Given the description of an element on the screen output the (x, y) to click on. 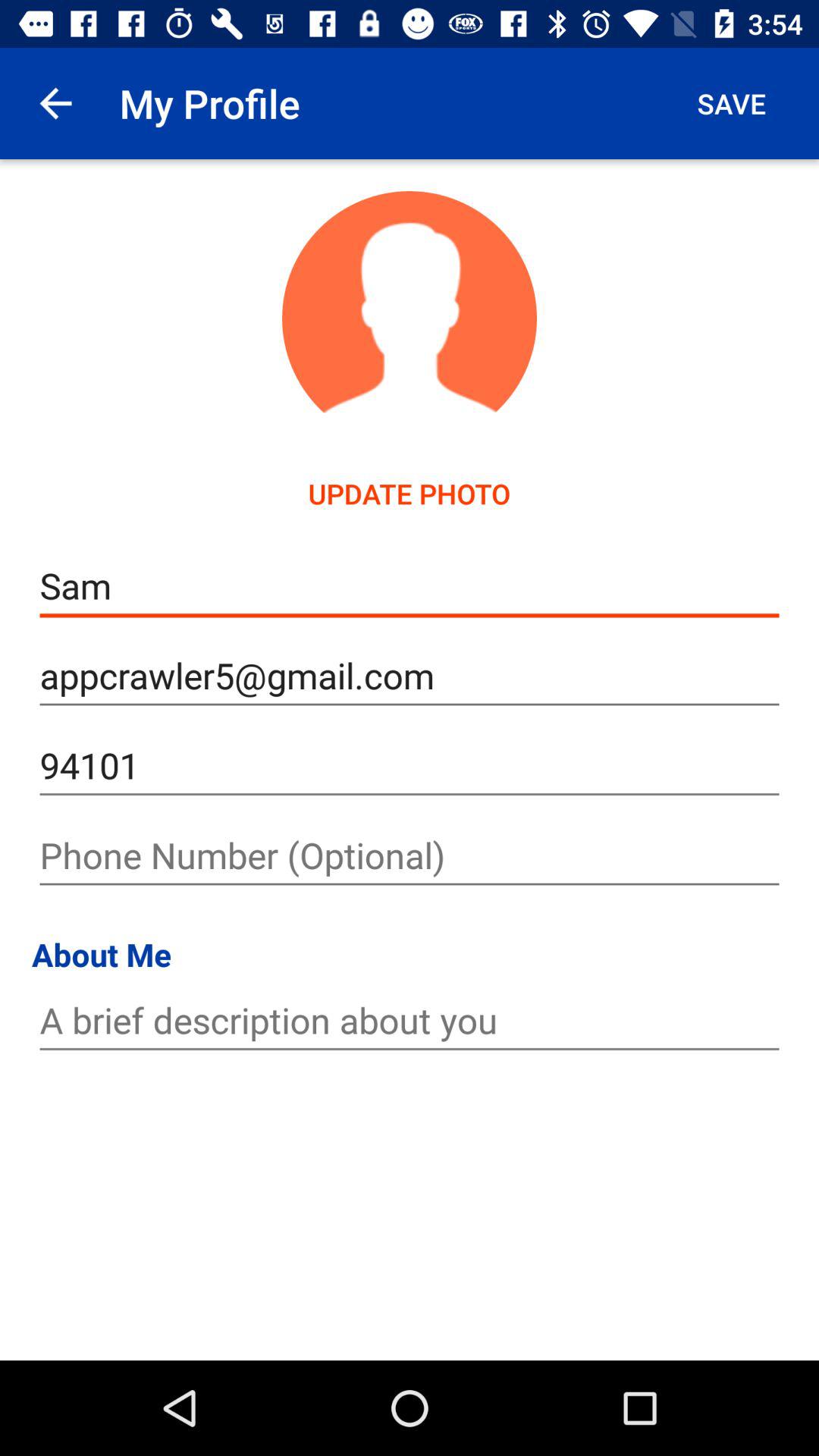
turn off item next to my profile (55, 103)
